Given the description of an element on the screen output the (x, y) to click on. 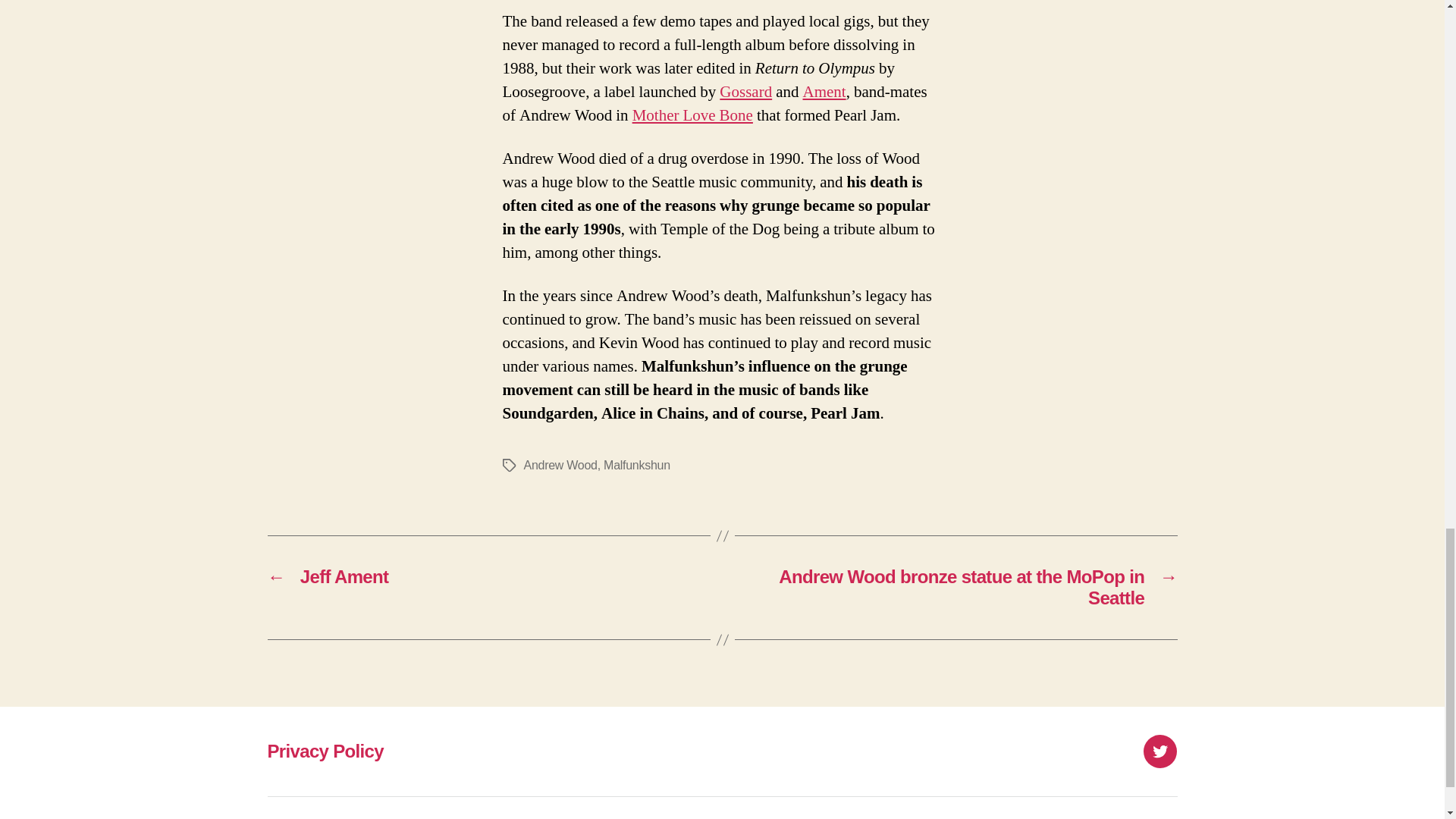
Andrew Wood (559, 464)
Privacy Policy (324, 751)
Ament (823, 91)
Gossard (745, 91)
Malfunkshun (636, 464)
Twitter (1159, 751)
Mother Love Bone (691, 115)
